Given the description of an element on the screen output the (x, y) to click on. 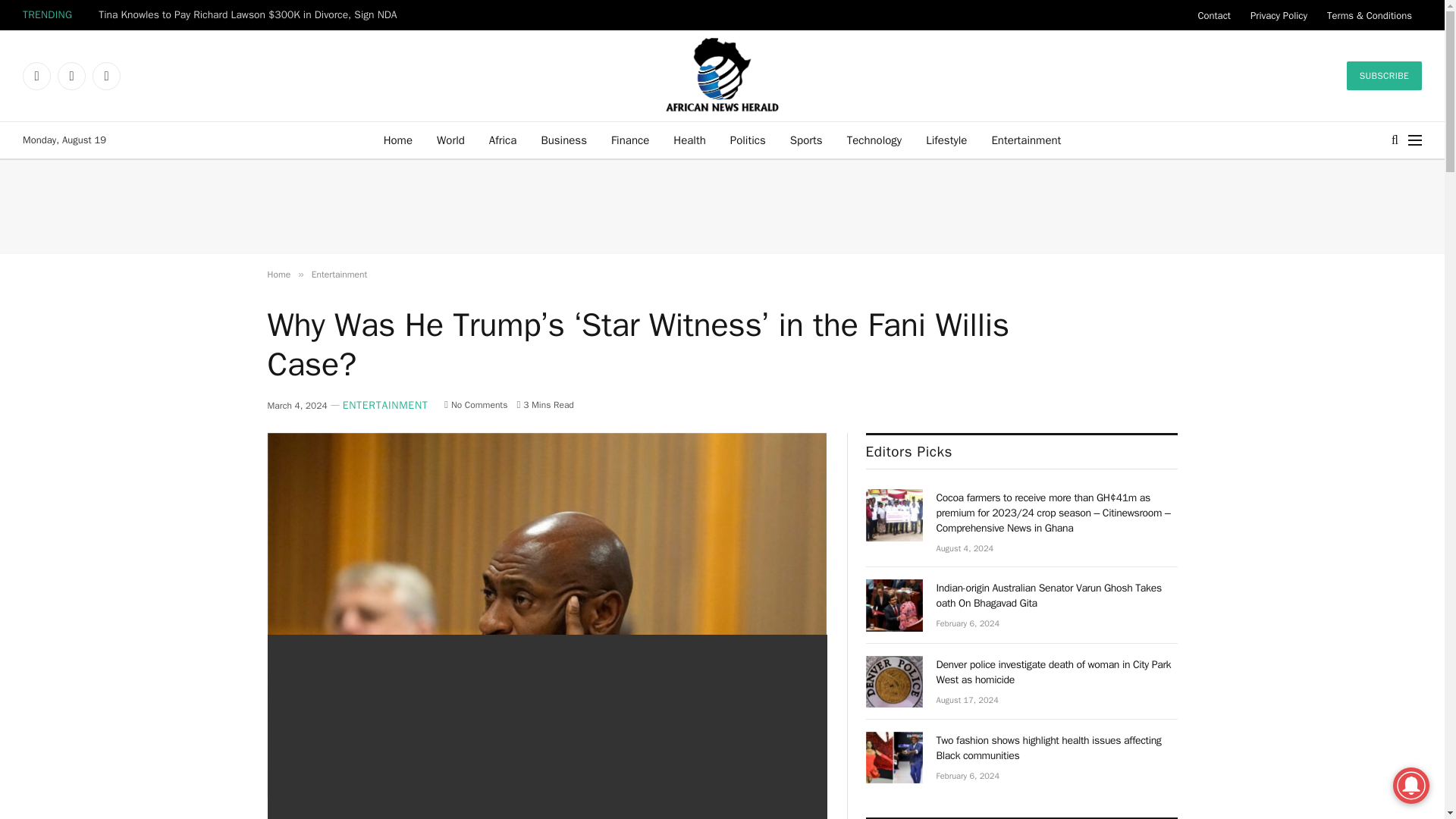
Africa (503, 140)
Facebook (36, 76)
Privacy Policy (1278, 15)
African News Herald (721, 75)
SUBSCRIBE (1384, 75)
Advertisement (721, 206)
Contact (1214, 15)
Instagram (106, 76)
World (451, 140)
Home (398, 140)
